Given the description of an element on the screen output the (x, y) to click on. 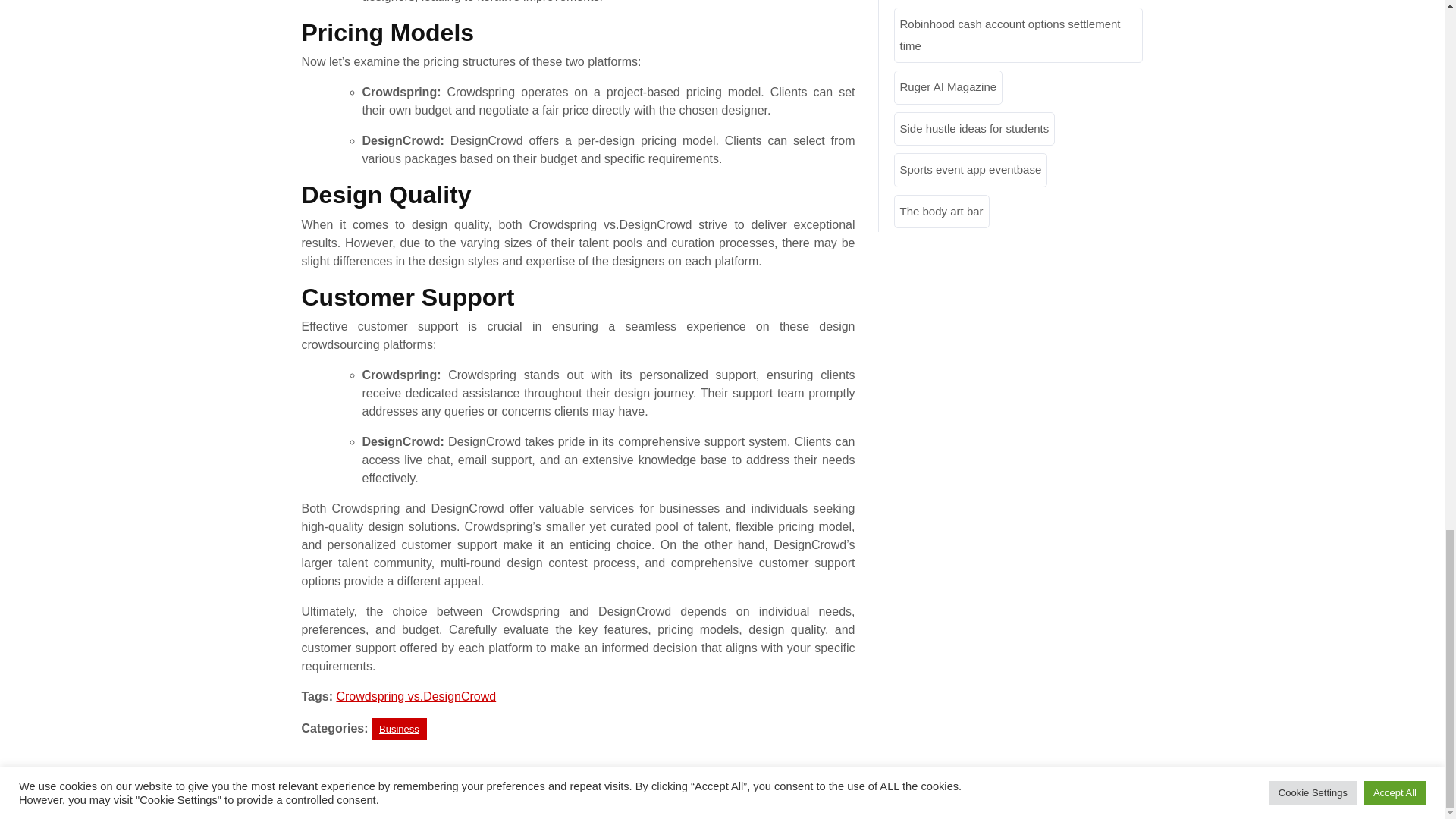
Business (398, 729)
Crowdspring vs.DesignCrowd (416, 696)
